Given the description of an element on the screen output the (x, y) to click on. 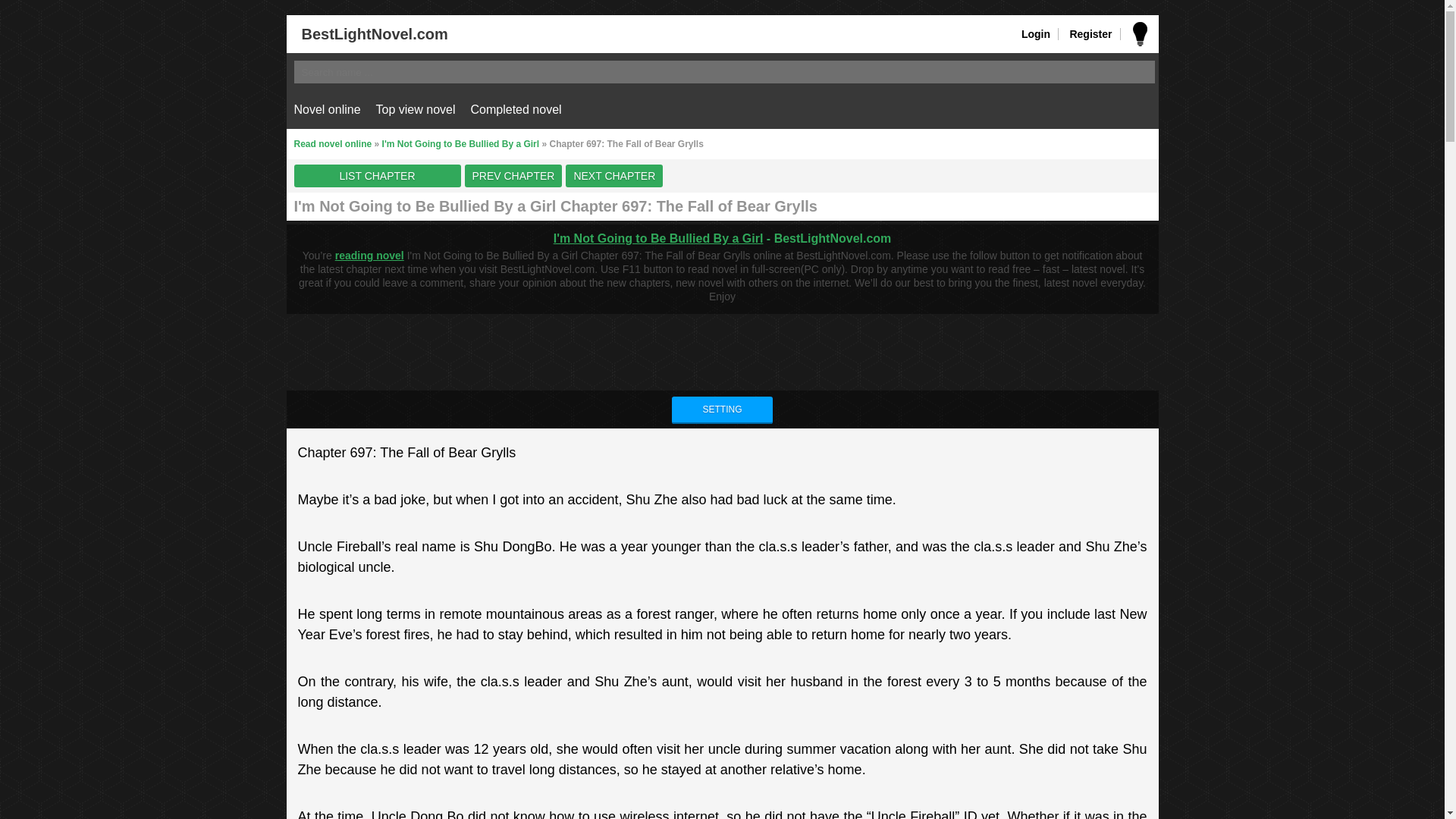
Login (1035, 33)
Register (1090, 33)
NEXT CHAPTER (614, 175)
SETTING (721, 410)
BestLightNovel.com (367, 33)
Advertisement (721, 347)
Read novel online (333, 143)
Read novel online (333, 143)
Top view novel (415, 109)
Top view novel (415, 109)
Novel online (327, 109)
I'm Not Going to Be Bullied By a Girl (460, 143)
I'm Not Going to Be Bullied By a Girl (657, 237)
reading novel (369, 255)
Completed novel (516, 109)
